Given the description of an element on the screen output the (x, y) to click on. 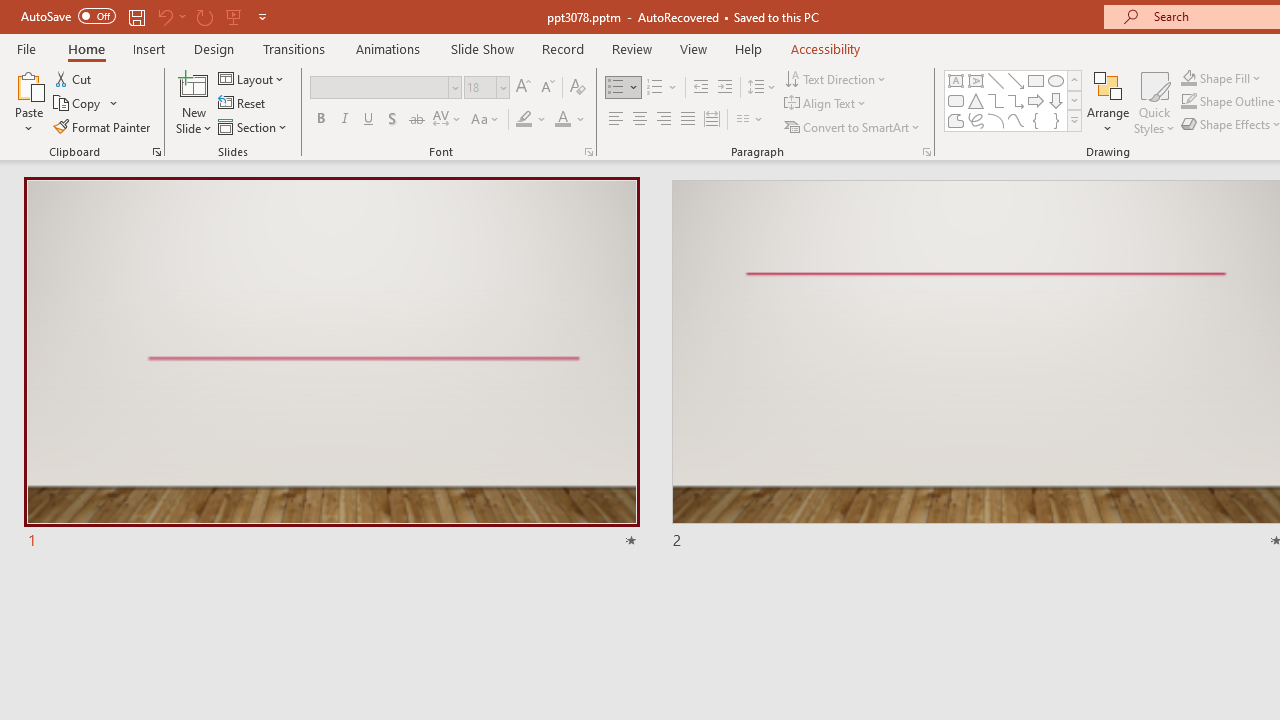
Isosceles Triangle (975, 100)
Change Case (486, 119)
Reset (243, 103)
Columns (750, 119)
Decrease Font Size (547, 87)
Arrange (1108, 102)
Decrease Indent (700, 87)
Format Painter (103, 126)
Layout (252, 78)
